Given the description of an element on the screen output the (x, y) to click on. 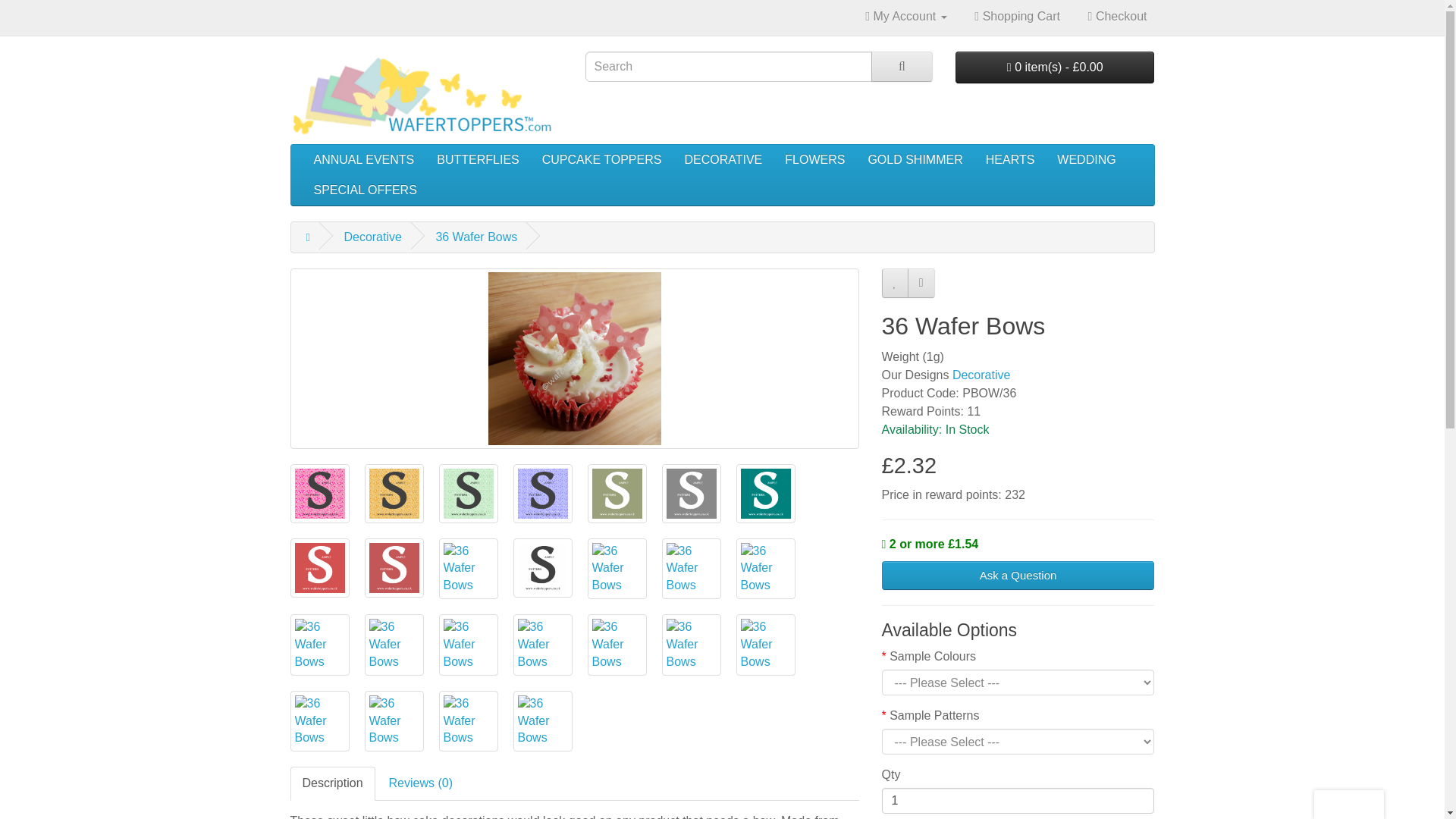
ANNUAL EVENTS (363, 159)
My Account (905, 15)
GOLD SHIMMER (915, 159)
BUTTERFLIES (477, 159)
DECORATIVE (722, 159)
Shopping Cart (1016, 15)
36 Wafer Bows (475, 236)
36 Wafer Bows (318, 493)
36 Wafer Bows (319, 493)
36 Wafer Bows (616, 493)
